Given the description of an element on the screen output the (x, y) to click on. 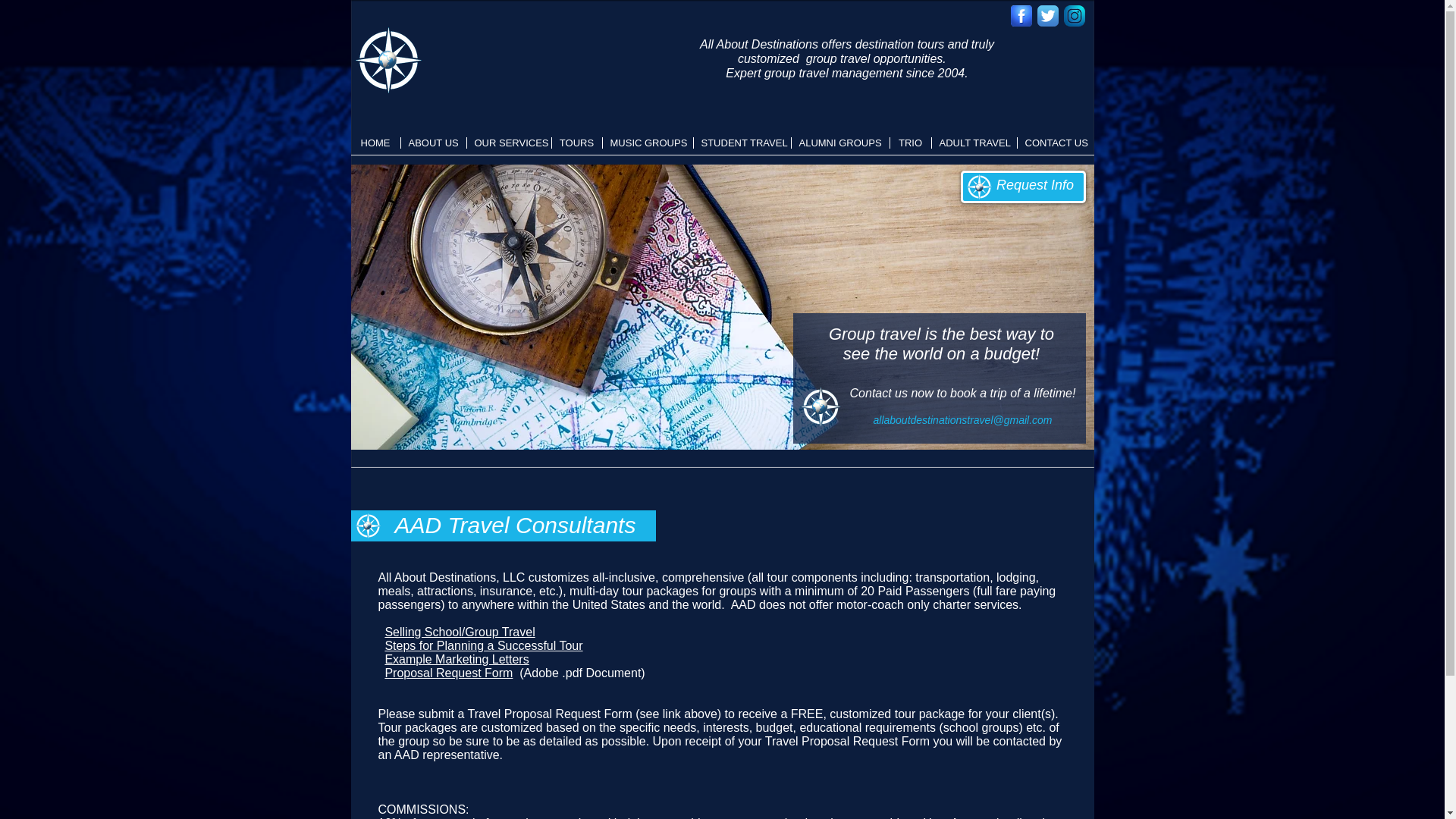
ABOUT US (432, 142)
CONTACT US (1055, 142)
TOURS (576, 142)
TRIO (910, 142)
ALUMNI GROUPS (840, 142)
MUSIC GROUPS (647, 142)
ADULT TRAVEL (973, 142)
OUR SERVICES (509, 142)
STUDENT TRAVEL (741, 142)
HOME (374, 142)
